Given the description of an element on the screen output the (x, y) to click on. 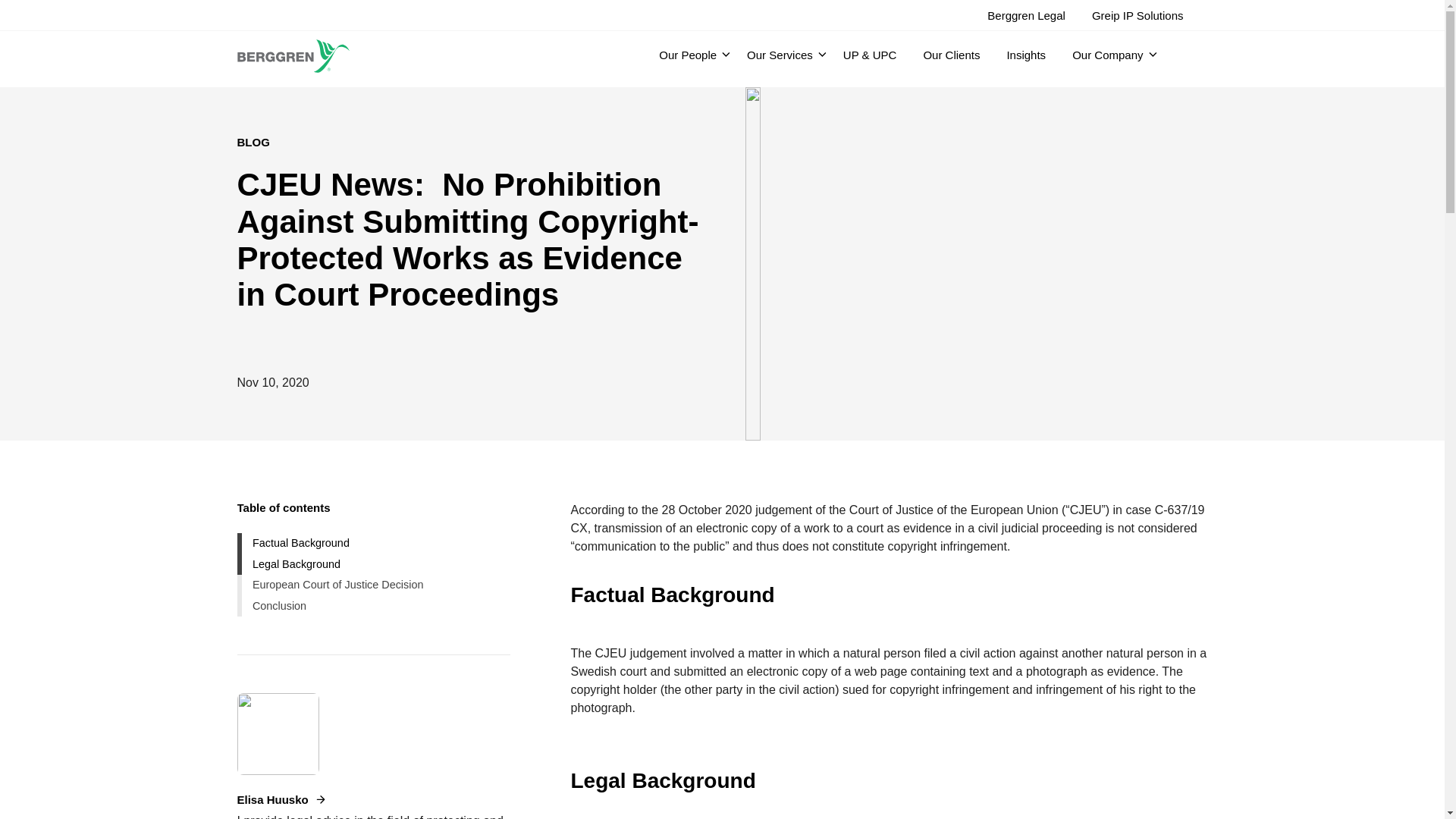
Our Clients (952, 54)
Our Services (781, 54)
Our People (689, 54)
Greip IP Solutions (1139, 15)
Our Company (1109, 54)
Conclusion (372, 605)
Insights (1027, 54)
Factual Background (372, 543)
Berggren Legal (1027, 15)
European Court of Justice Decision (372, 585)
Legal Background (372, 563)
